Given the description of an element on the screen output the (x, y) to click on. 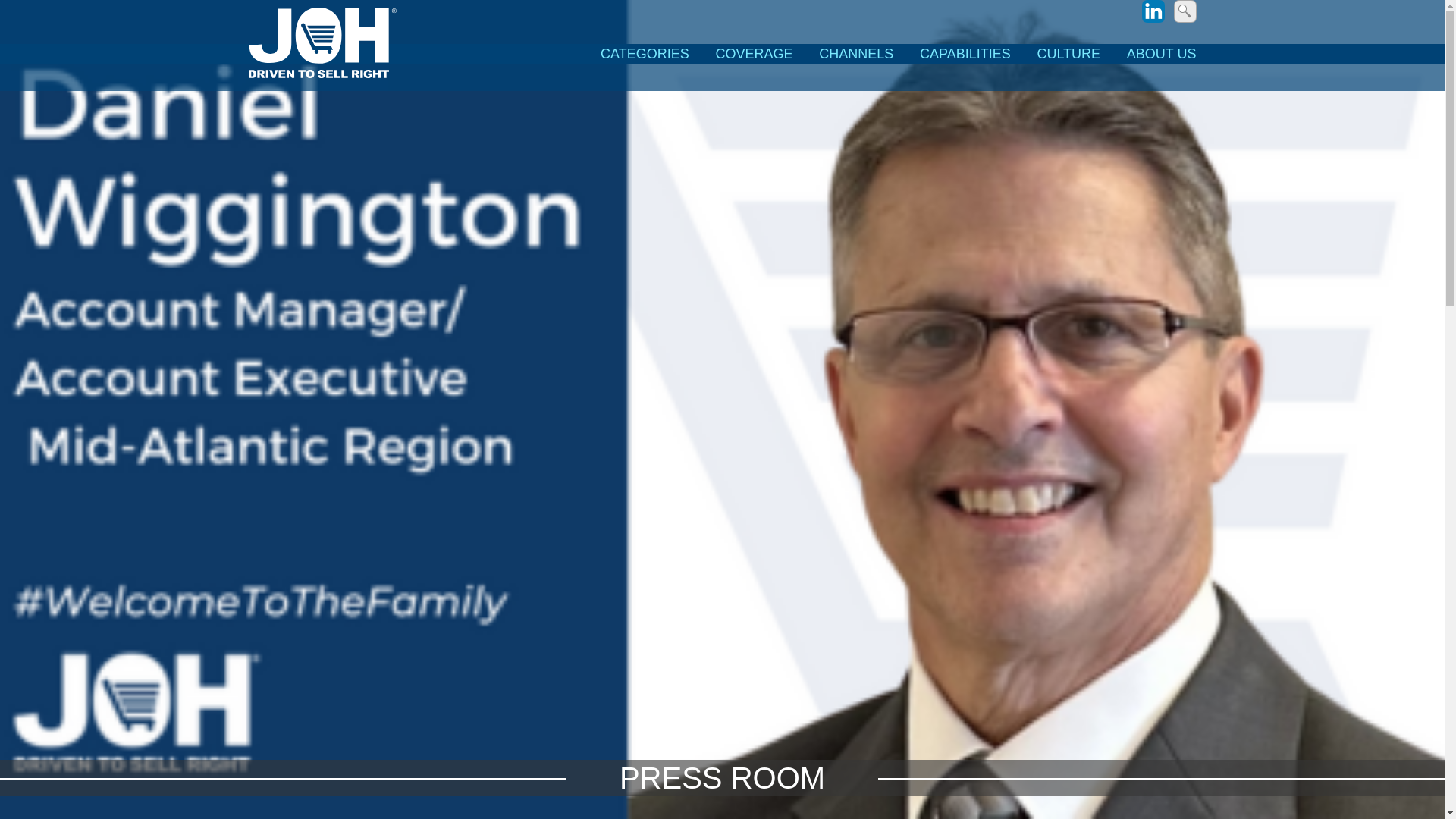
CATEGORIES (644, 54)
CULTURE (1068, 54)
CAPABILITIES (965, 54)
ABOUT US (1155, 54)
CHANNELS (856, 54)
COVERAGE (753, 54)
